Given the description of an element on the screen output the (x, y) to click on. 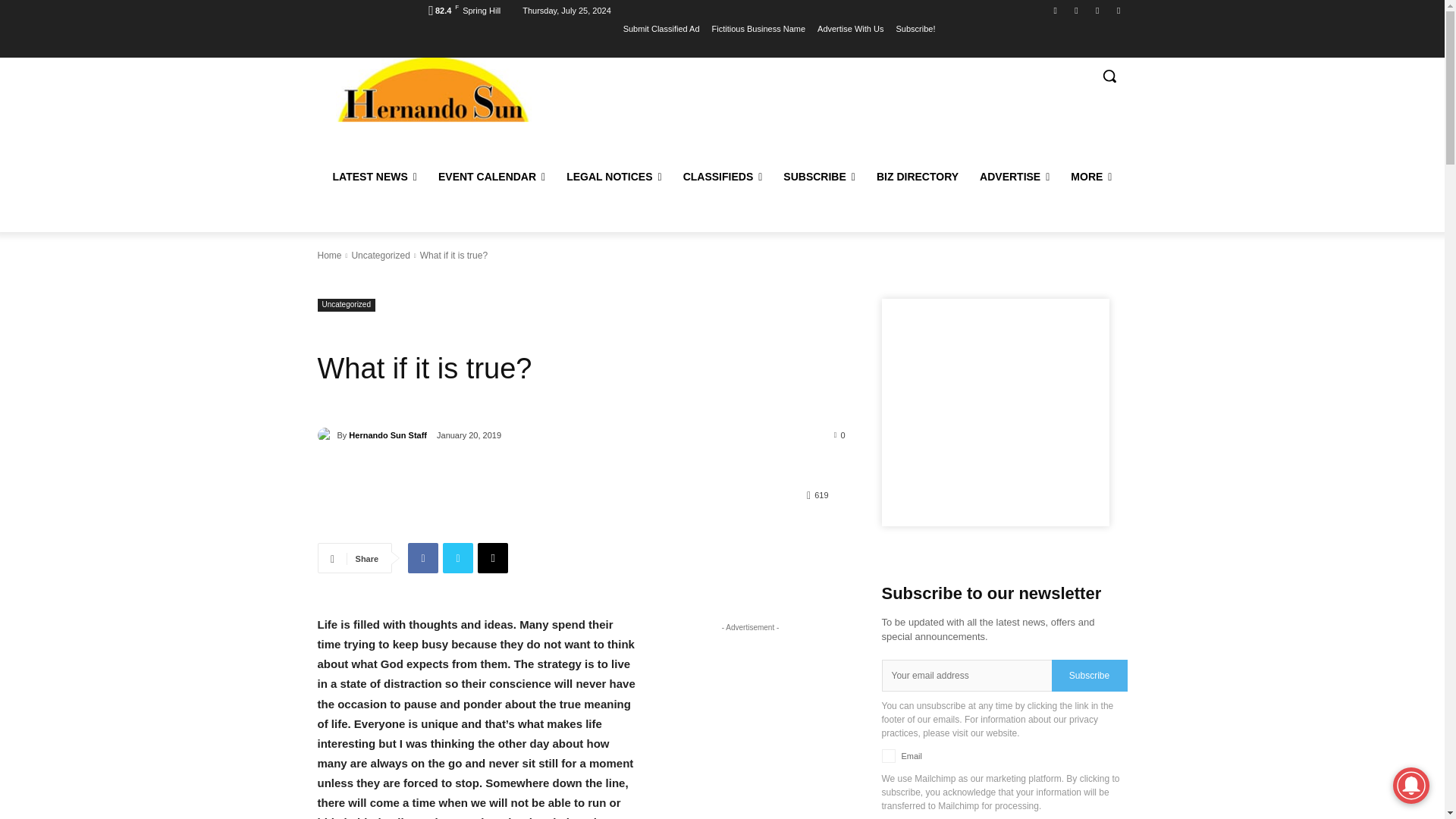
Facebook (1055, 9)
Hernando Sun Logo (432, 89)
Twitter (1075, 9)
Facebook (422, 557)
Youtube (1097, 9)
View all posts in Uncategorized (379, 255)
Hernando Sun Staff (326, 435)
Instagram (1117, 9)
